Given the description of an element on the screen output the (x, y) to click on. 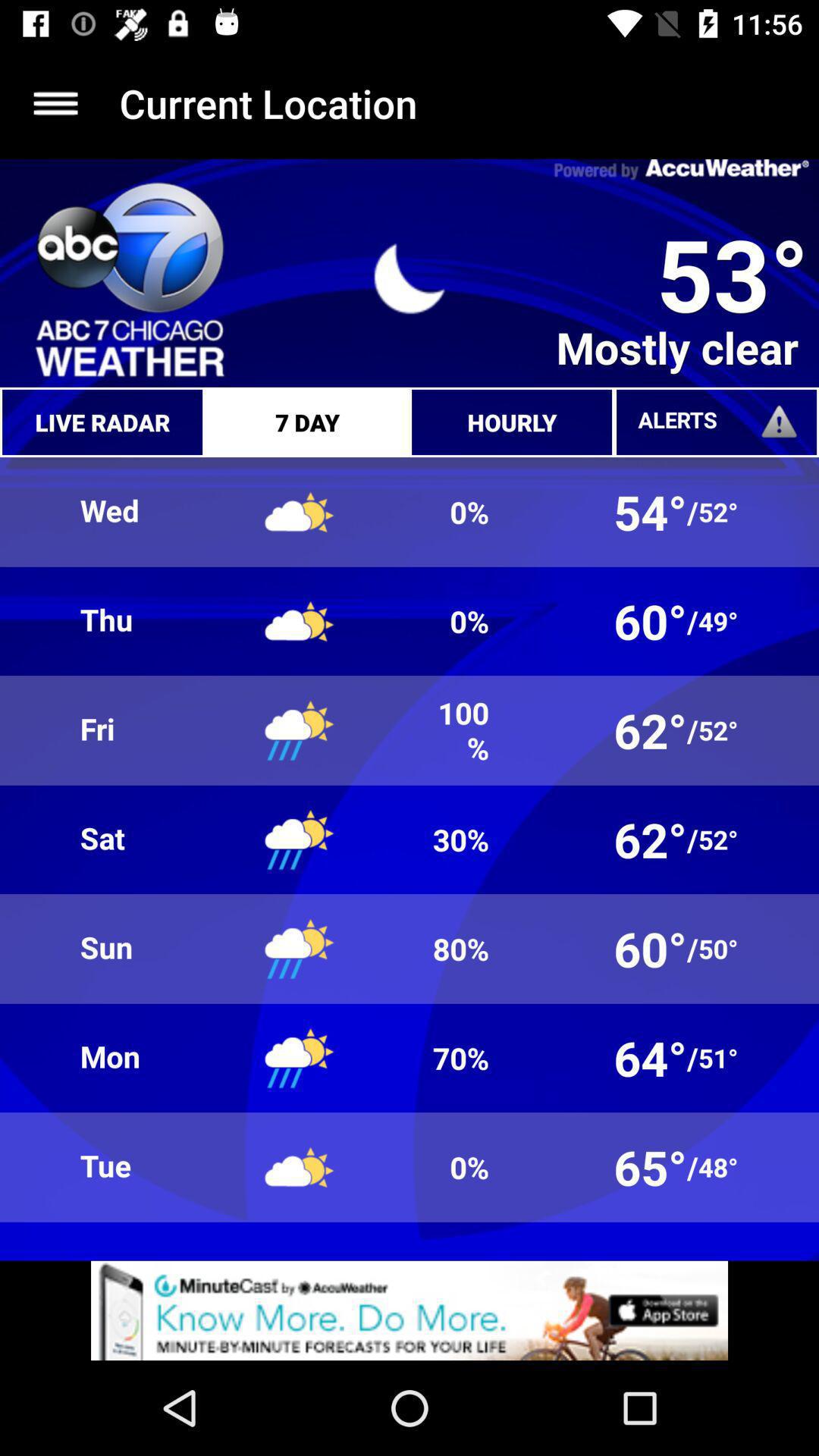
click the menu option (55, 103)
